Given the description of an element on the screen output the (x, y) to click on. 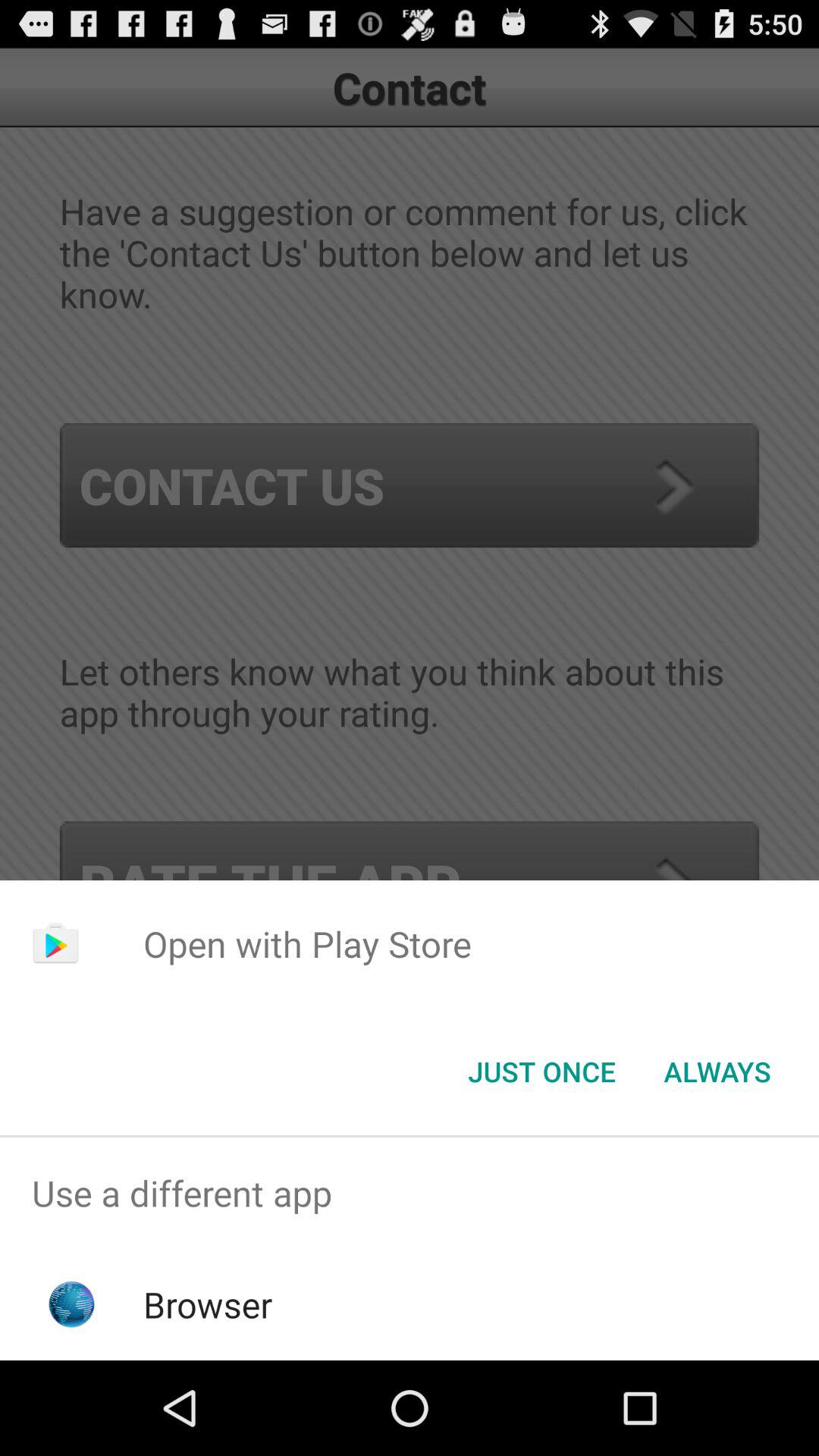
turn on the button next to just once item (717, 1071)
